Given the description of an element on the screen output the (x, y) to click on. 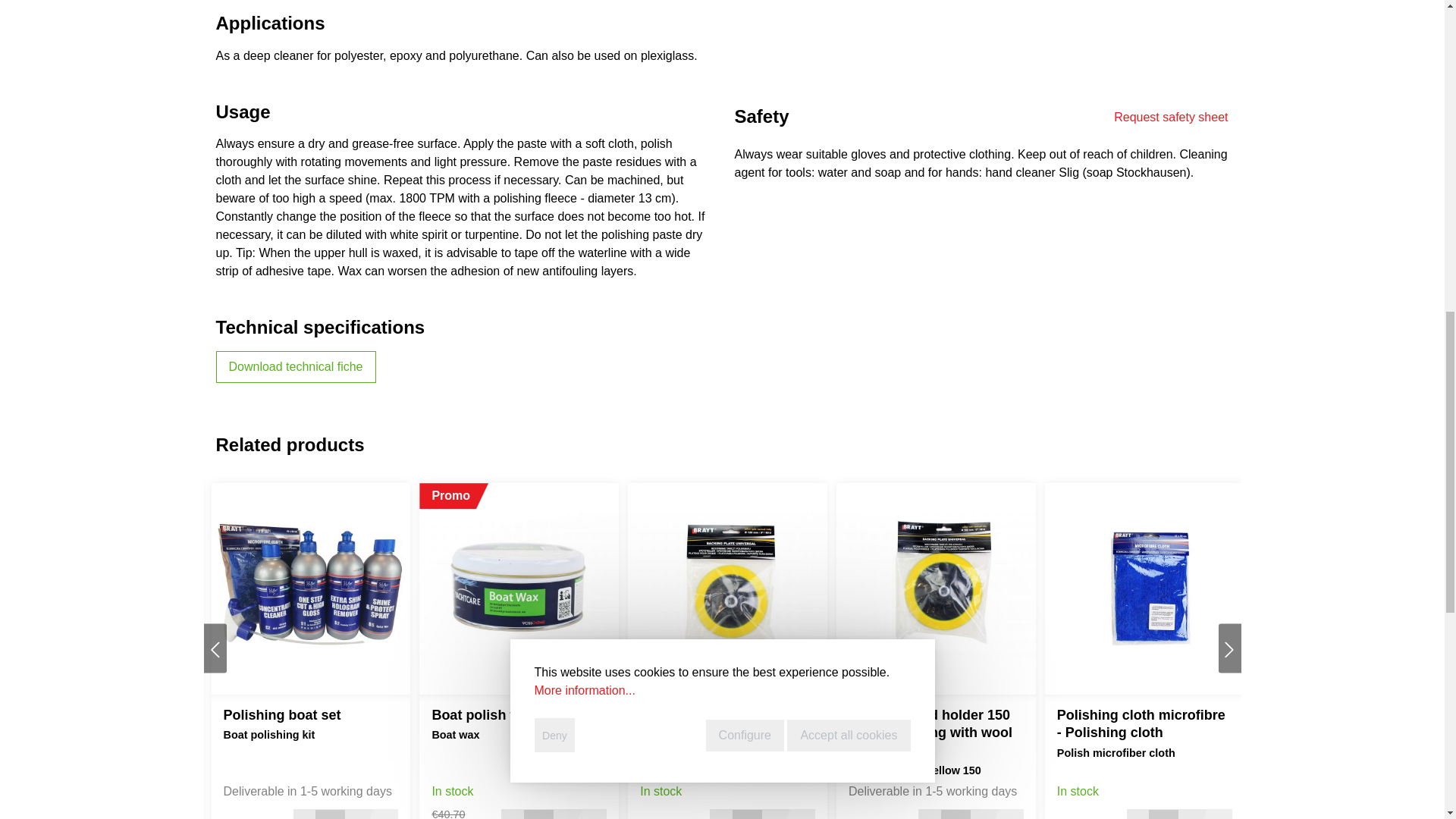
1 (538, 814)
1 (330, 814)
1 (955, 814)
1 (1163, 814)
1 (747, 814)
